Given the description of an element on the screen output the (x, y) to click on. 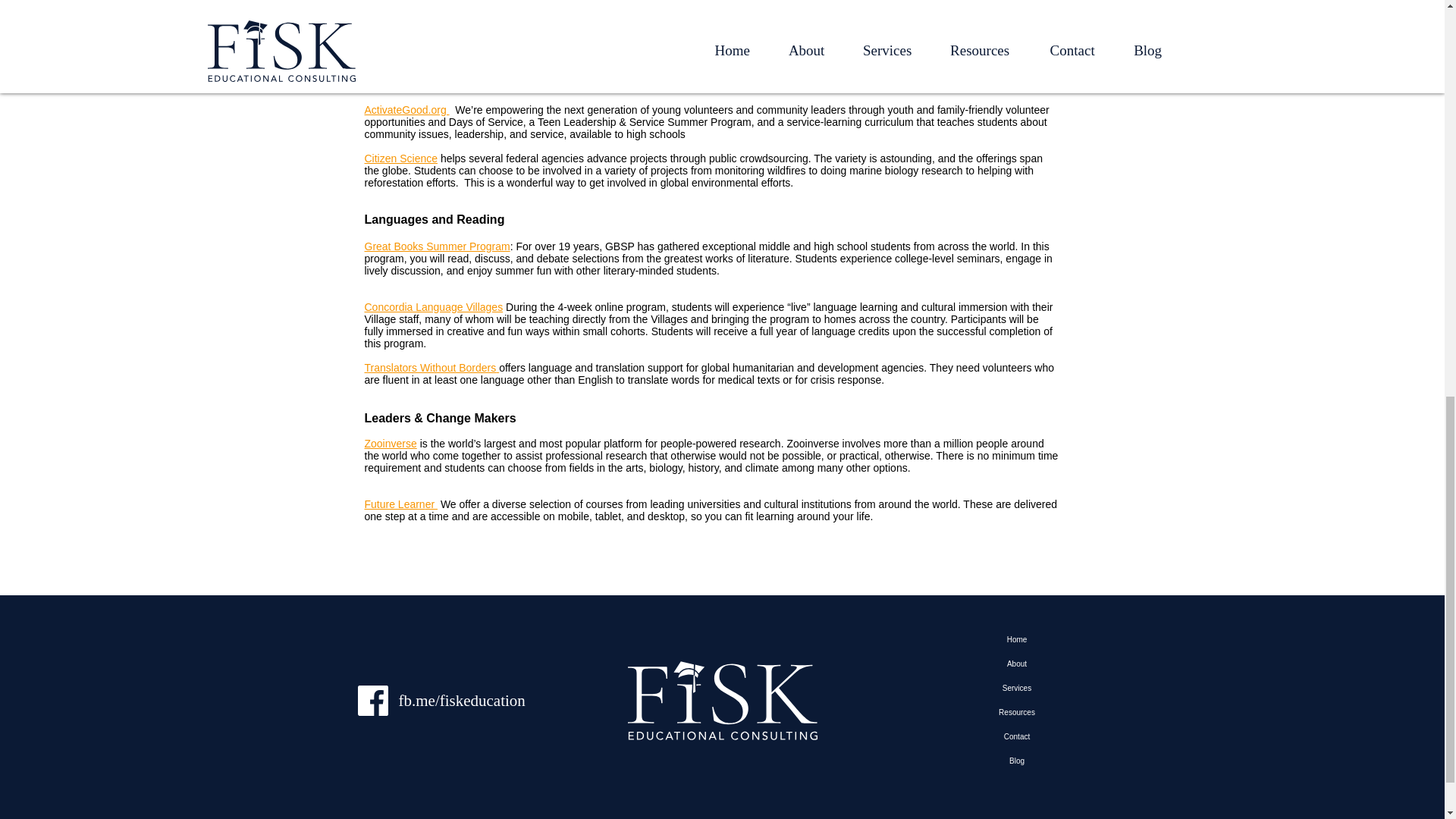
Citizen Science (401, 158)
Concordia Language Villages (433, 306)
Zooinverse (390, 443)
Translators Without Borders (430, 367)
Future Learn (394, 503)
The Red Cross (399, 12)
Great Books Summer Program (436, 246)
UPchieve (386, 61)
